Given the description of an element on the screen output the (x, y) to click on. 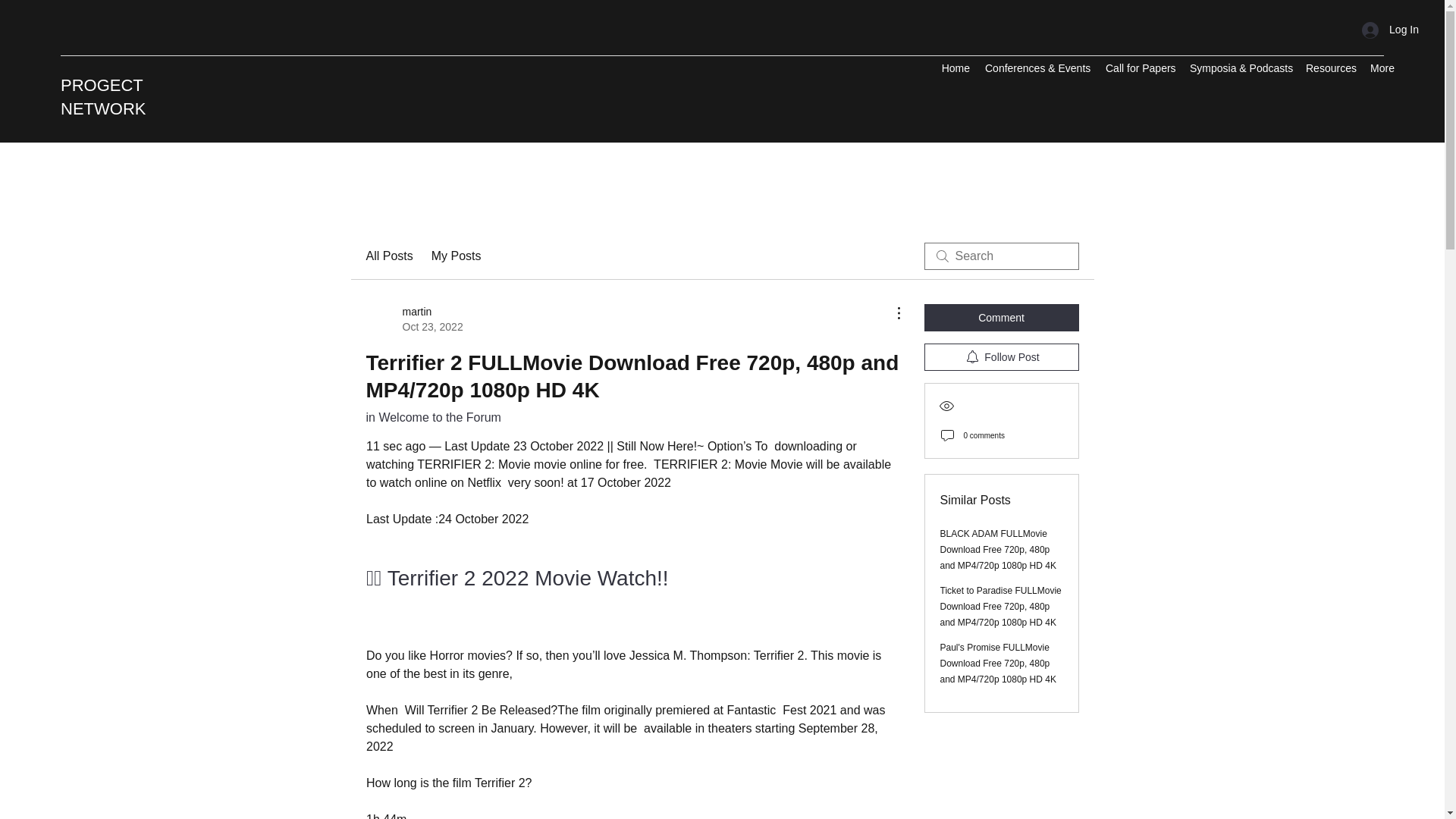
Comment (1000, 317)
Log In (1390, 29)
All Posts (388, 256)
Call for Papers (1139, 67)
Home (954, 67)
My Posts (455, 256)
Follow Post (414, 318)
PROGECT NETWORK (1000, 357)
in Welcome to the Forum (103, 96)
